Given the description of an element on the screen output the (x, y) to click on. 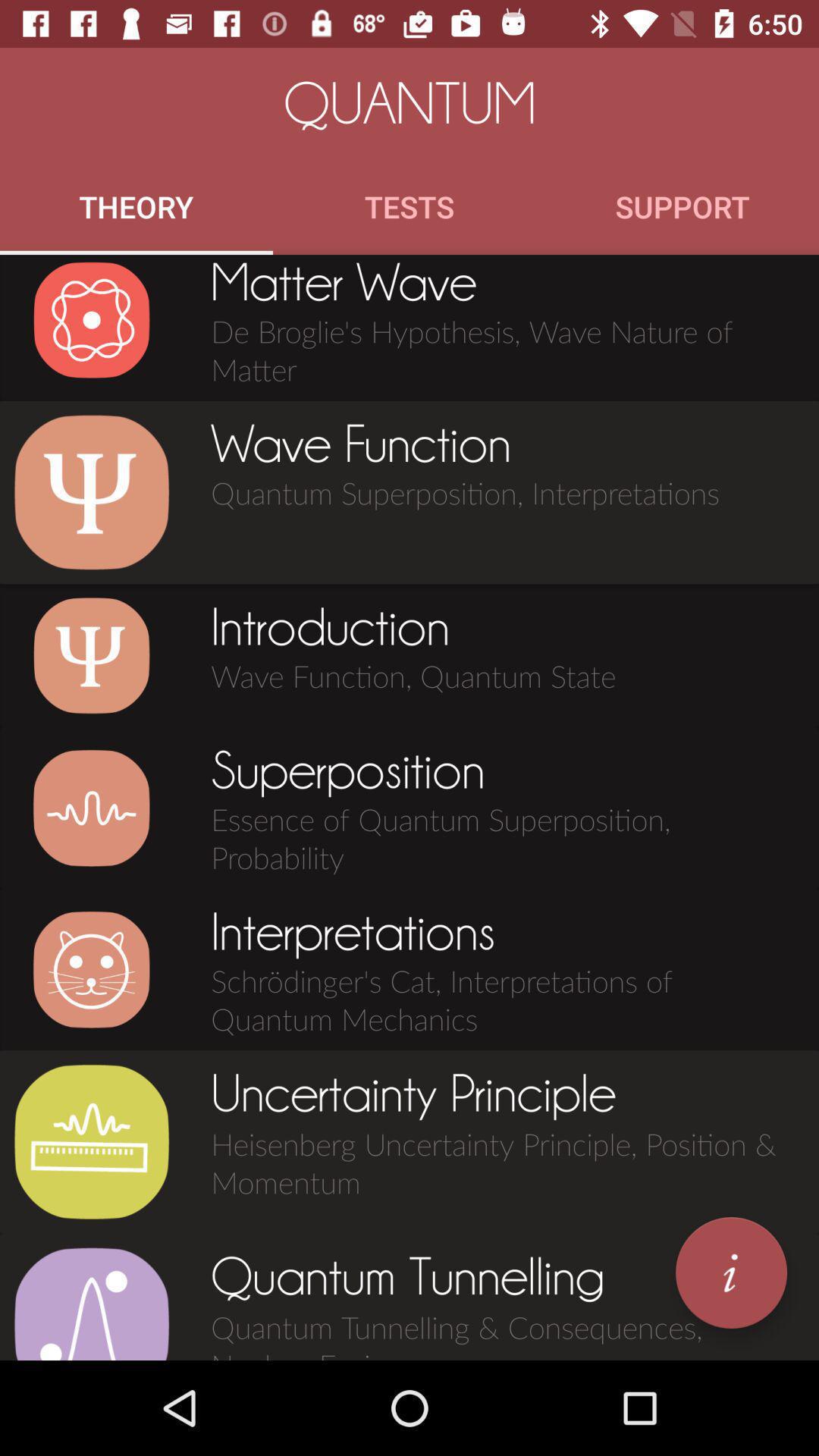
matter wave option (91, 319)
